Given the description of an element on the screen output the (x, y) to click on. 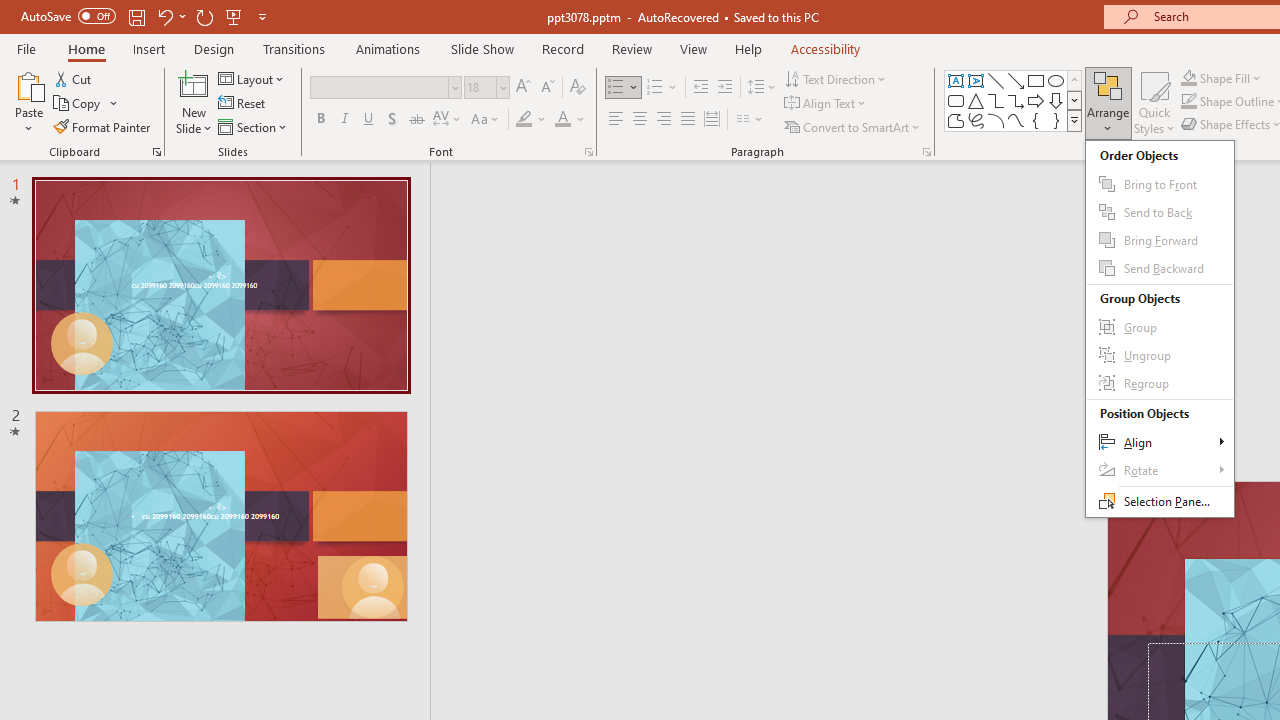
Layout (252, 78)
Quick Styles (1154, 102)
Arrow: Right (1035, 100)
Text Direction (836, 78)
Strikethrough (416, 119)
Italic (344, 119)
Office Clipboard... (156, 151)
Cut (73, 78)
Left Brace (1035, 120)
